Given the description of an element on the screen output the (x, y) to click on. 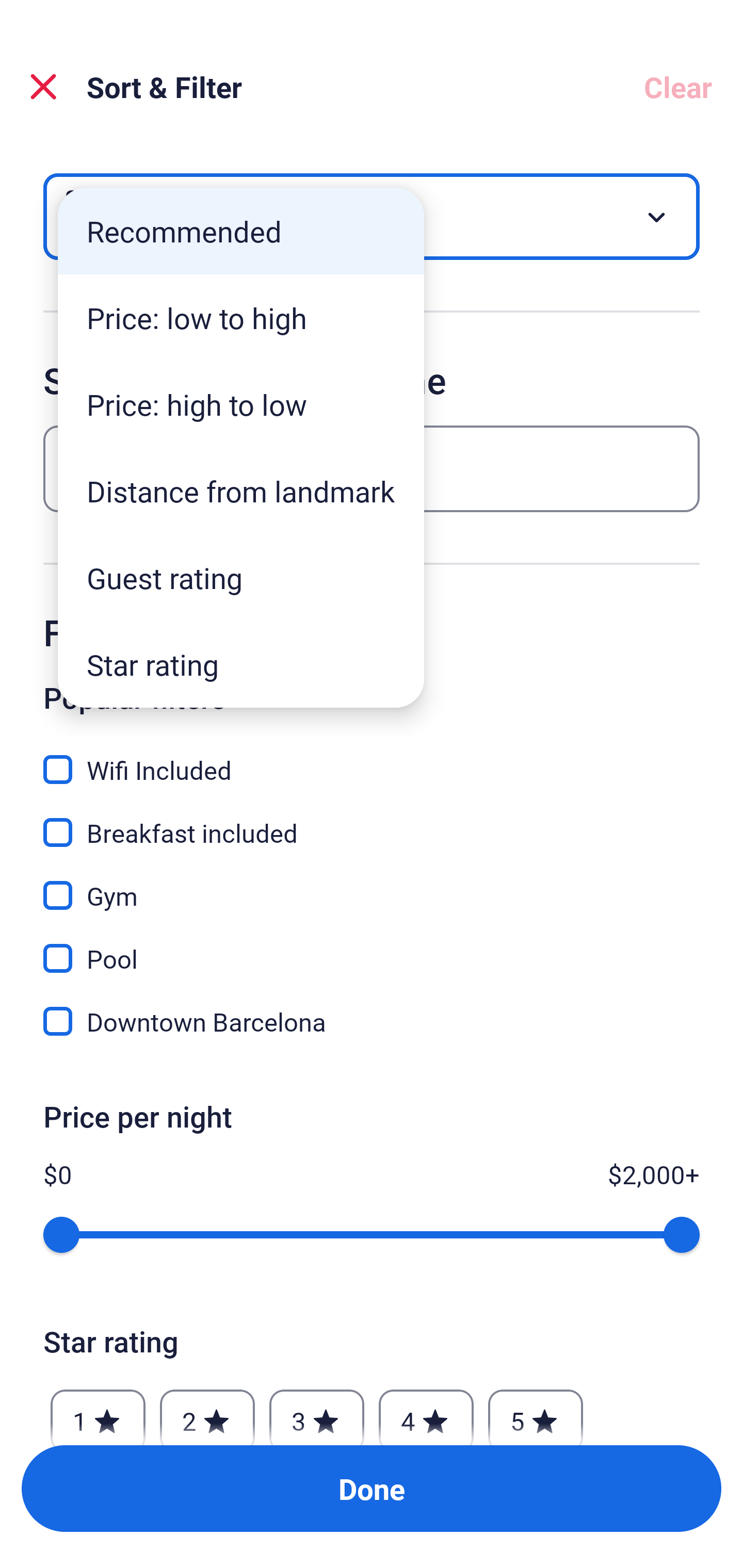
Price: low to high (240, 317)
Price: high to low (240, 404)
Distance from landmark (240, 491)
Guest rating (240, 577)
Star rating (240, 663)
